Given the description of an element on the screen output the (x, y) to click on. 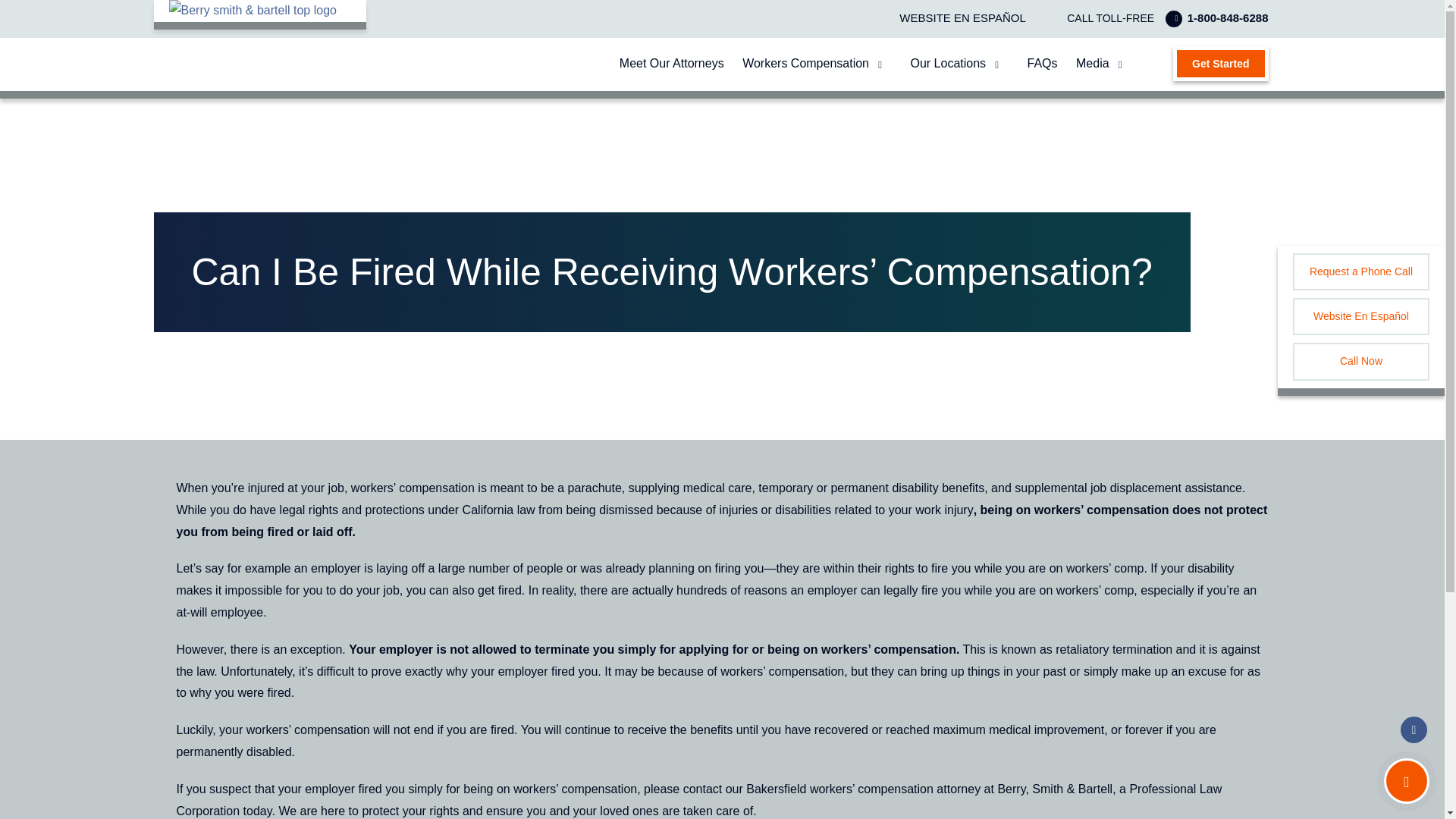
Workers Compensation (805, 63)
Request a Phone Call (1360, 271)
1-800-848-6288 (1212, 17)
Call Now (1360, 361)
Meet Our Attorneys (671, 63)
